Given the description of an element on the screen output the (x, y) to click on. 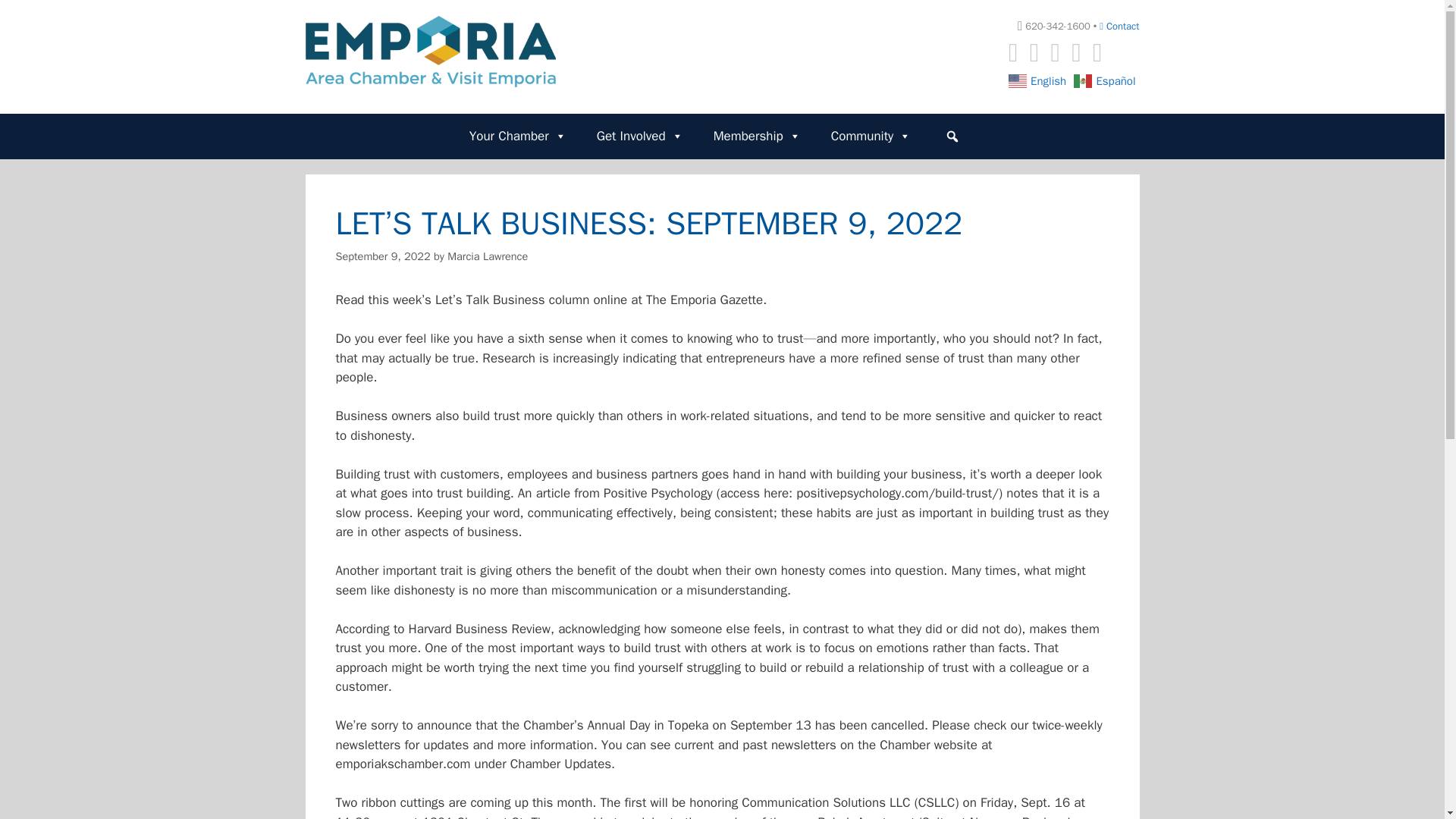
View all posts by Marcia Lawrence (486, 255)
English (1039, 80)
Emporia Area Chamber of Commerce (429, 50)
Your Chamber (515, 135)
Get Involved (637, 135)
Emporia Area Chamber of Commerce (429, 50)
Contact (1118, 25)
